Given the description of an element on the screen output the (x, y) to click on. 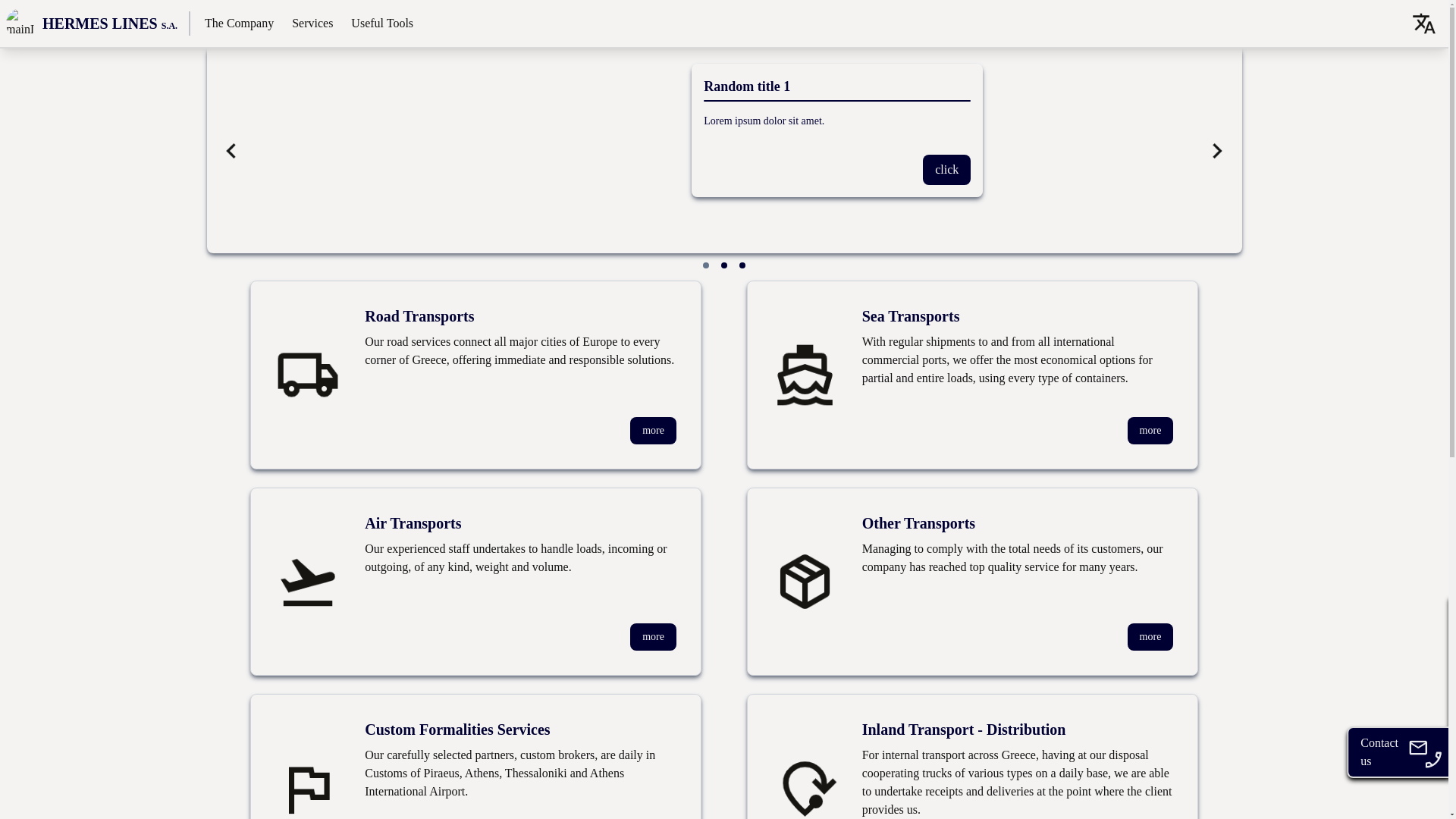
more (653, 430)
more (1149, 636)
more (653, 636)
more (1149, 430)
